Given the description of an element on the screen output the (x, y) to click on. 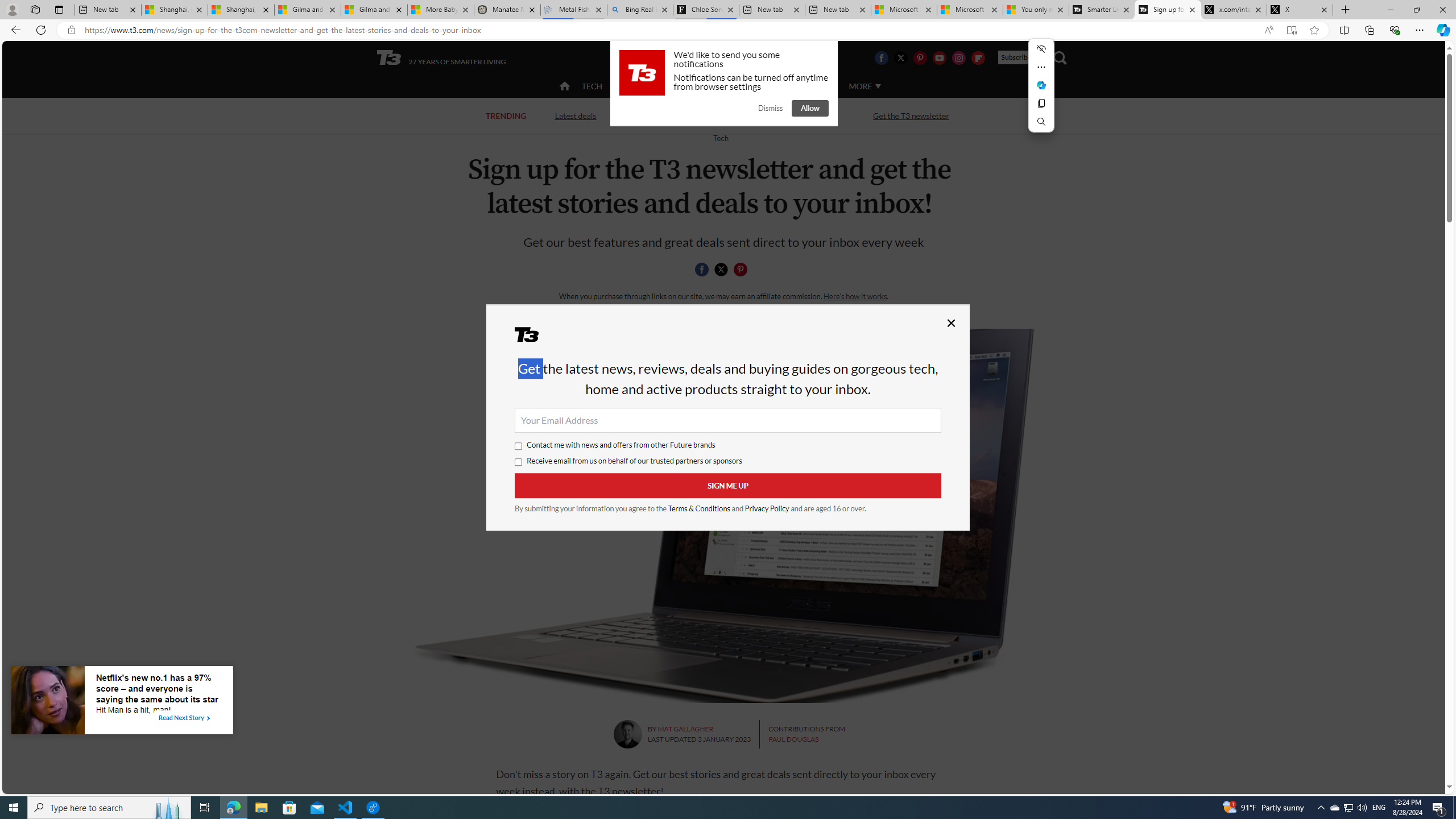
Share this page on Facebook (701, 269)
Visit us on Instagram (958, 57)
Class: svg-arrow-down (877, 86)
LUXURY (765, 86)
MAT GALLAGHER (685, 728)
Share this page on Pintrest (739, 269)
T3 newsletter (723, 515)
Streaming TV and movies (788, 115)
TECH (591, 85)
